Given the description of an element on the screen output the (x, y) to click on. 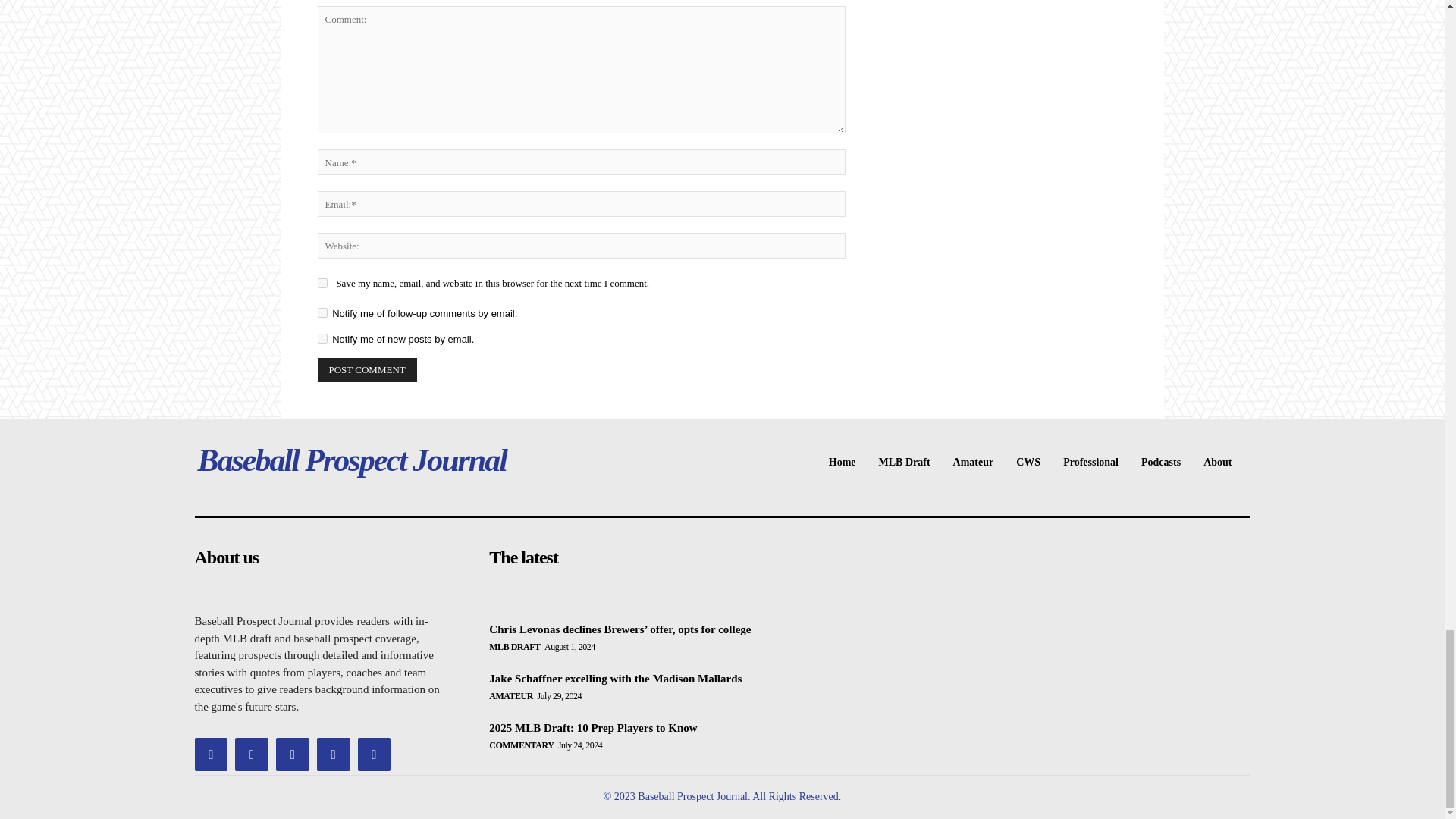
subscribe (321, 312)
subscribe (321, 338)
Post Comment (366, 369)
yes (321, 283)
